Given the description of an element on the screen output the (x, y) to click on. 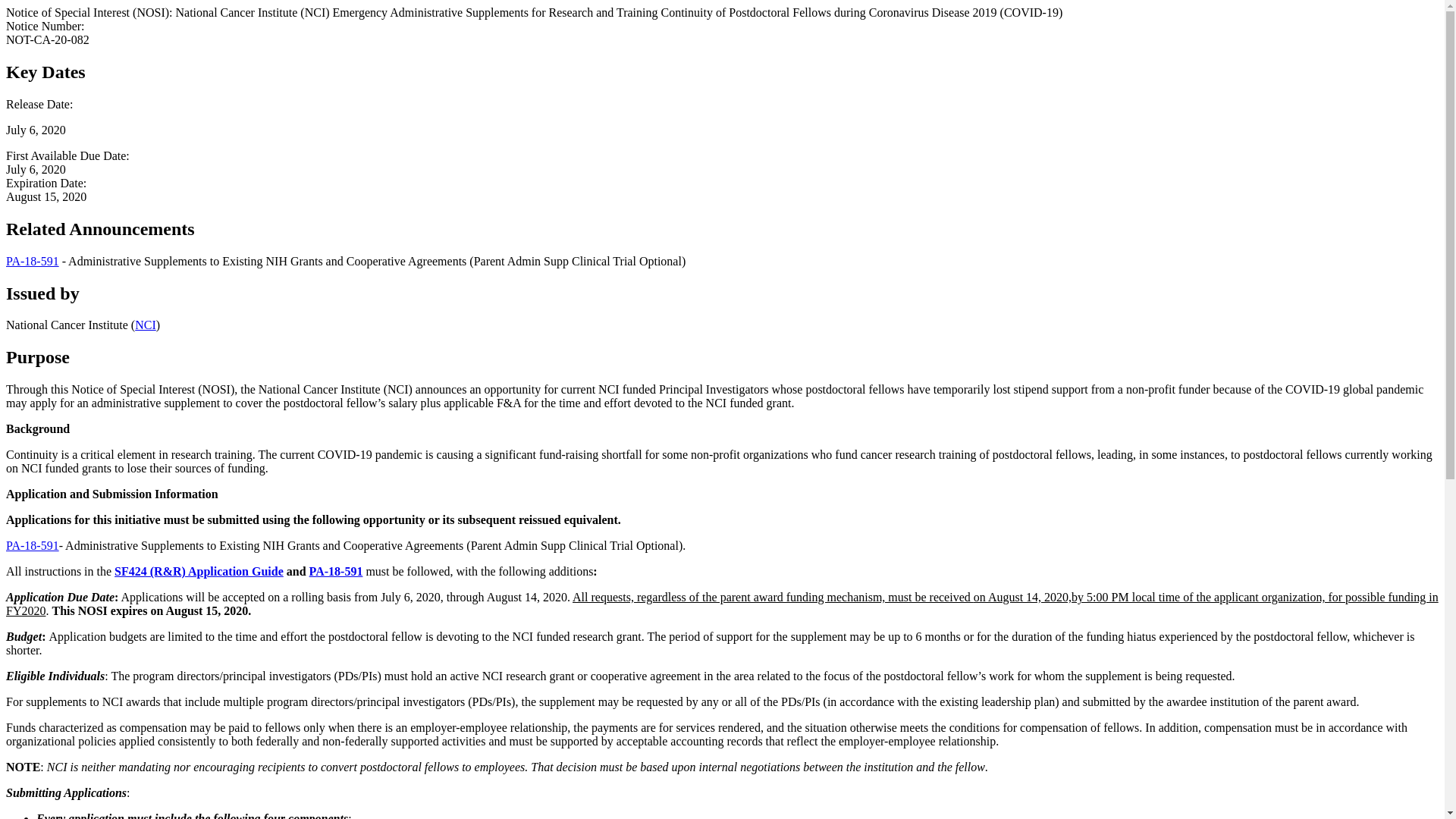
PA-18-591 (335, 571)
NCI (145, 324)
PA-18-591 (32, 260)
PA-18-591 (32, 545)
